Given the description of an element on the screen output the (x, y) to click on. 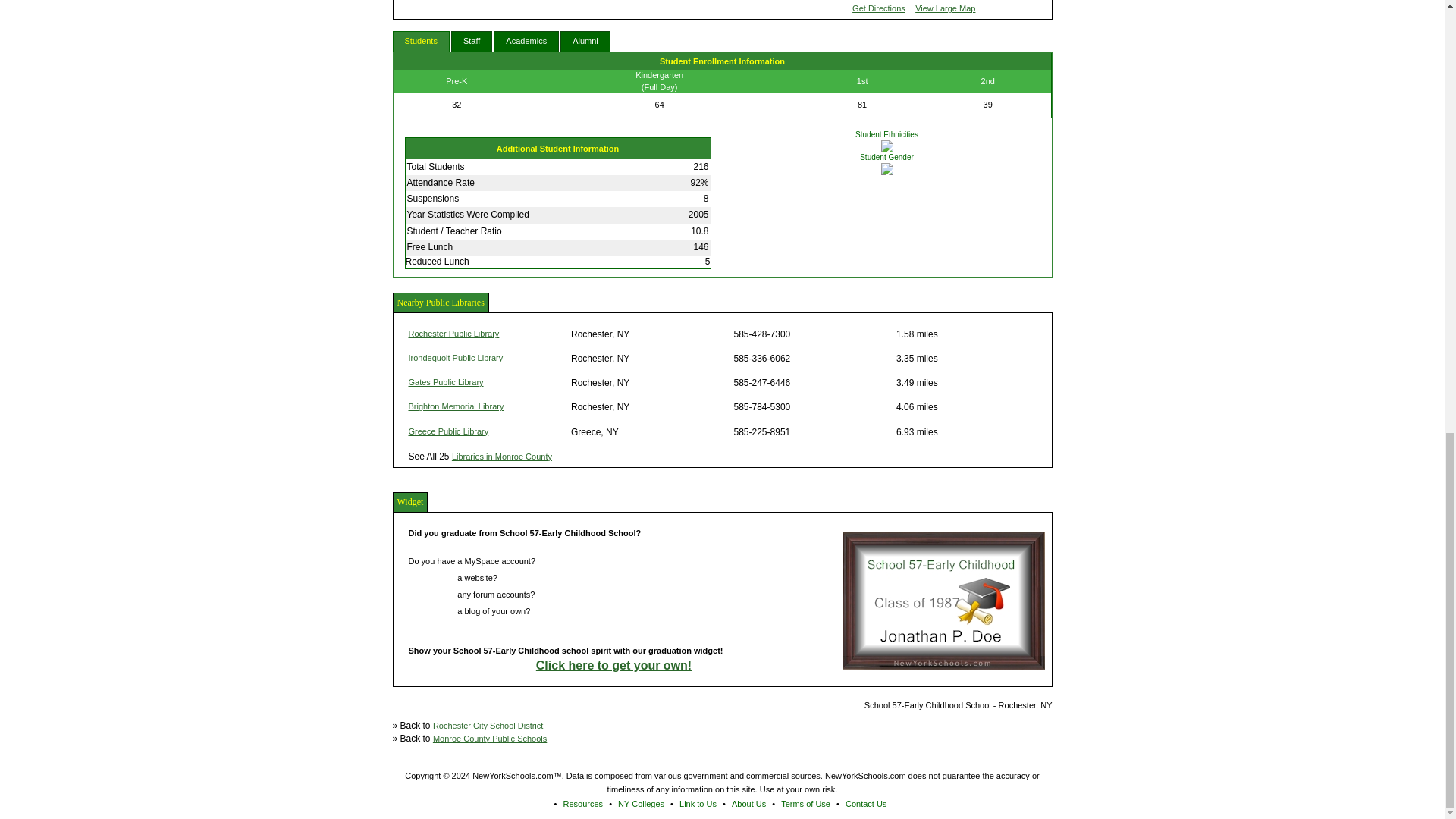
Get Directions (878, 8)
View Large Map (945, 8)
Staff (471, 41)
Students (421, 41)
